Given the description of an element on the screen output the (x, y) to click on. 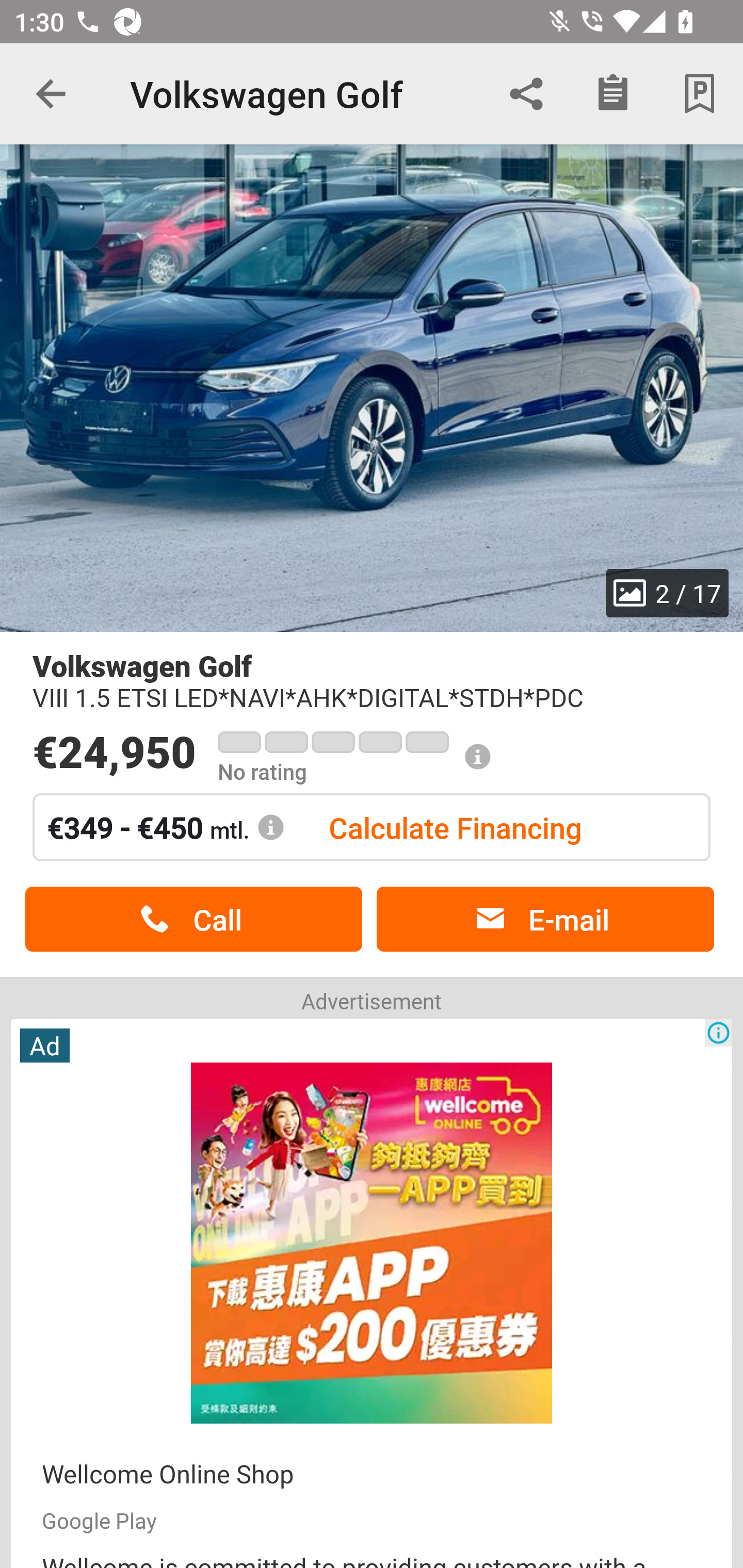
Navigate up (50, 93)
Share via (525, 93)
Checklist (612, 93)
Park (699, 93)
Calculate Financing (454, 826)
€349 - €450 mtl. (165, 826)
Call (193, 919)
E-mail (545, 919)
Ad Choices Icon (718, 1032)
Wellcome Online Shop (167, 1473)
Google Play (98, 1520)
